Given the description of an element on the screen output the (x, y) to click on. 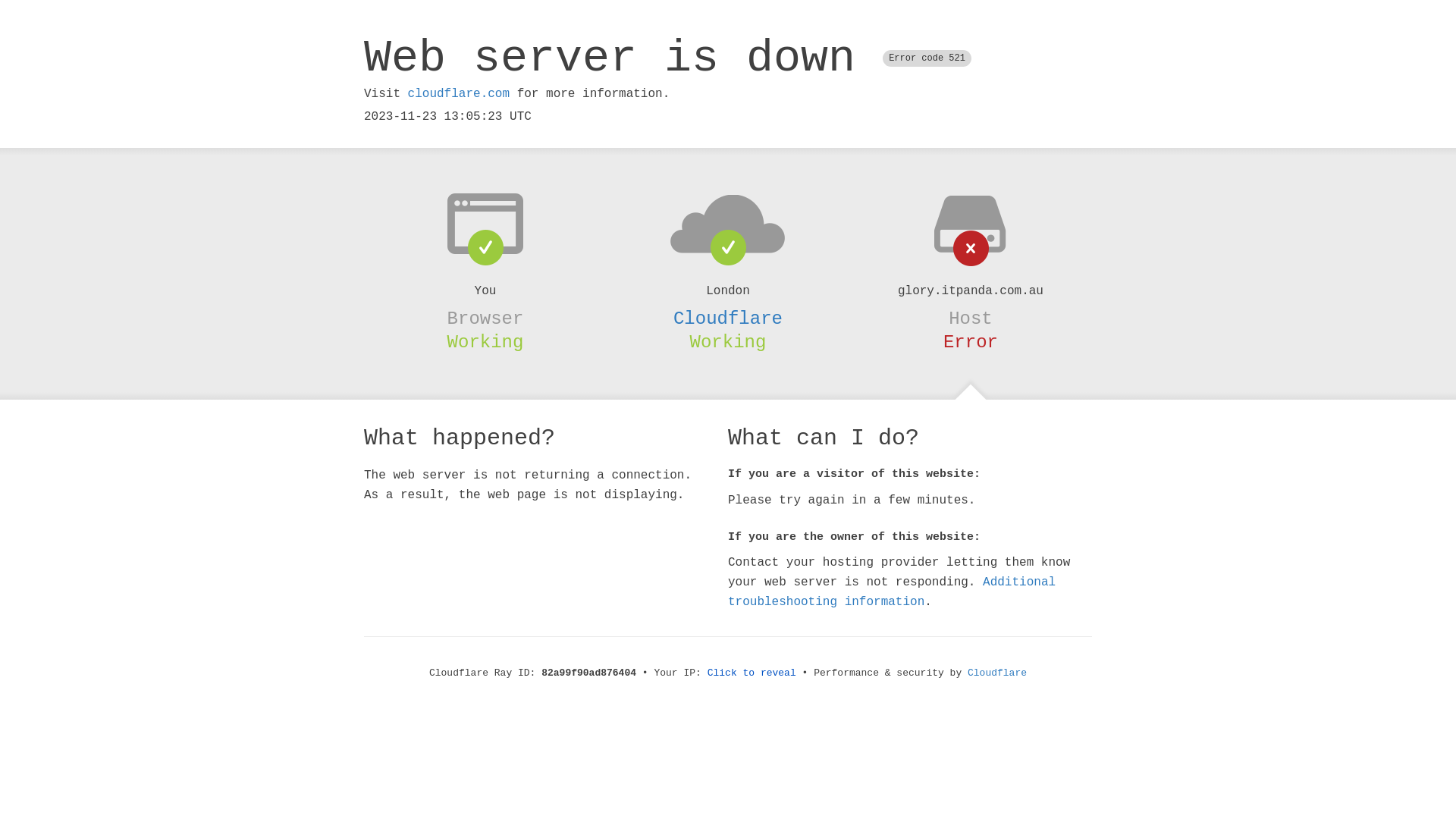
Cloudflare Element type: text (996, 672)
cloudflare.com Element type: text (458, 93)
Cloudflare Element type: text (727, 318)
Additional troubleshooting information Element type: text (891, 591)
Click to reveal Element type: text (751, 672)
